Given the description of an element on the screen output the (x, y) to click on. 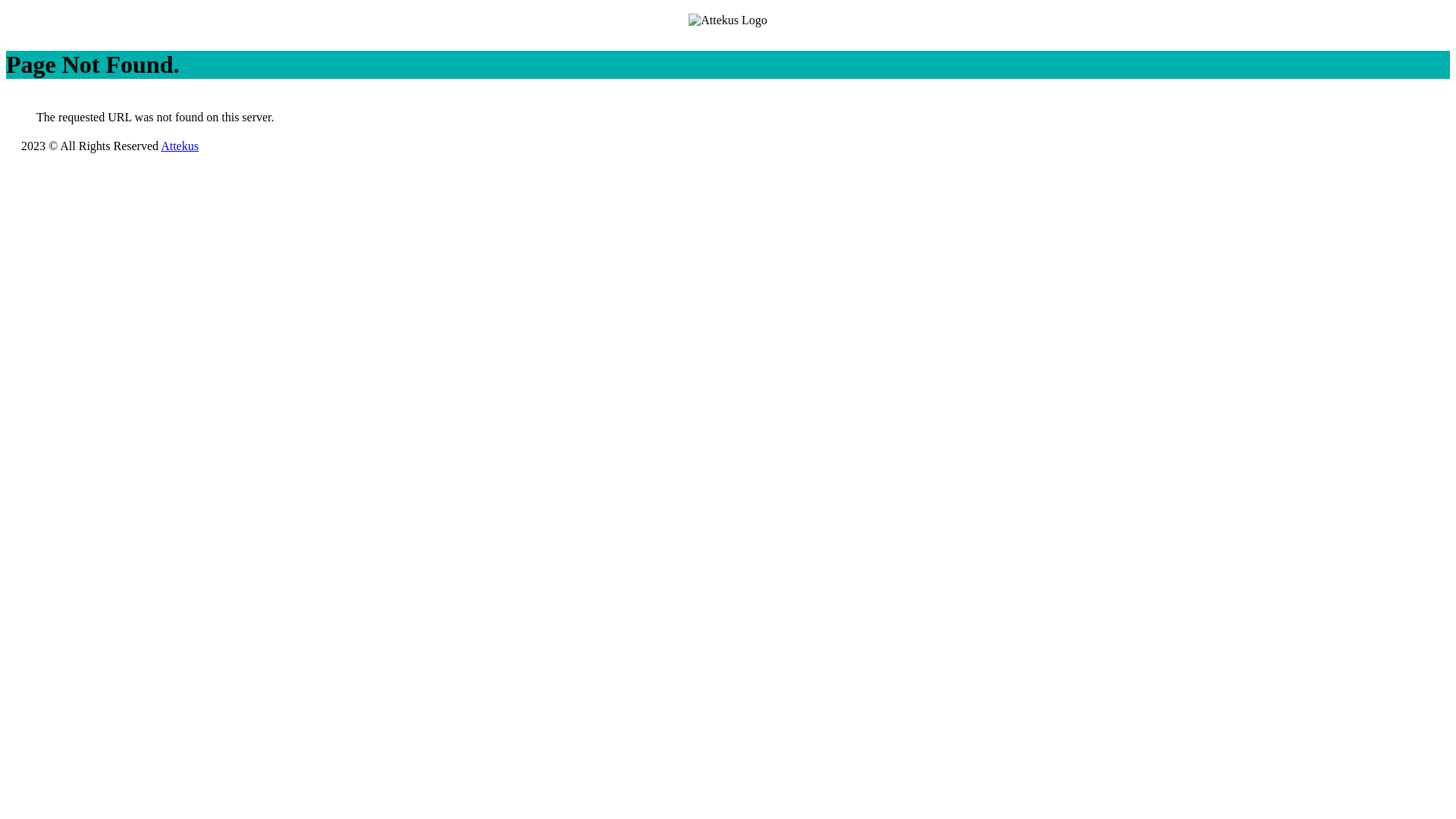
Attekus Element type: text (179, 145)
